Given the description of an element on the screen output the (x, y) to click on. 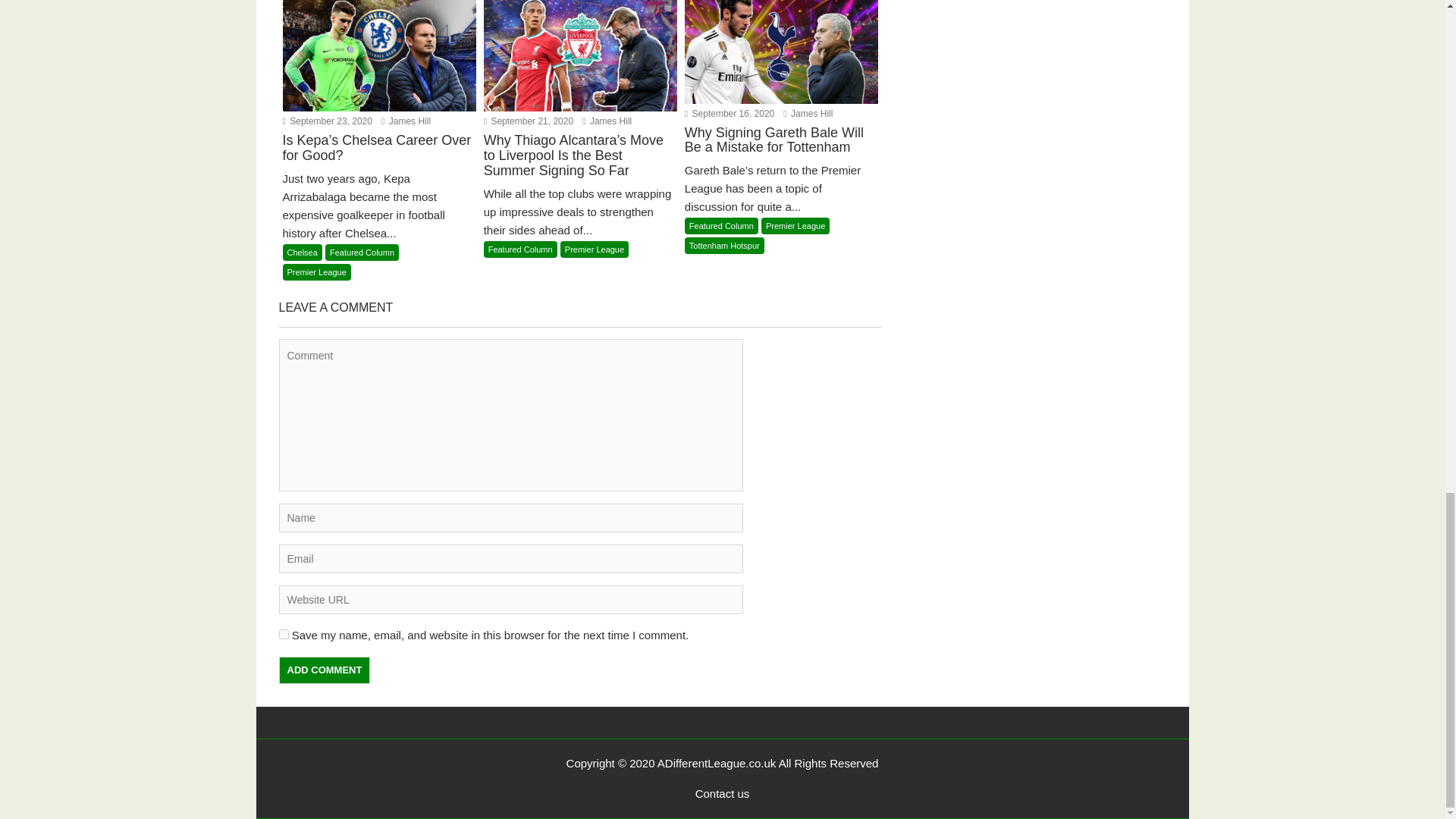
Featured Column (520, 248)
Premier League (316, 271)
James Hill (807, 113)
Premier League (795, 225)
James Hill (405, 121)
Chelsea (301, 252)
yes (283, 634)
James Hill (606, 121)
September 21, 2020 (528, 121)
Featured Column (361, 252)
James Hill (807, 113)
James Hill (405, 121)
James Hill (606, 121)
Premier League (594, 248)
Featured Column (721, 225)
